Given the description of an element on the screen output the (x, y) to click on. 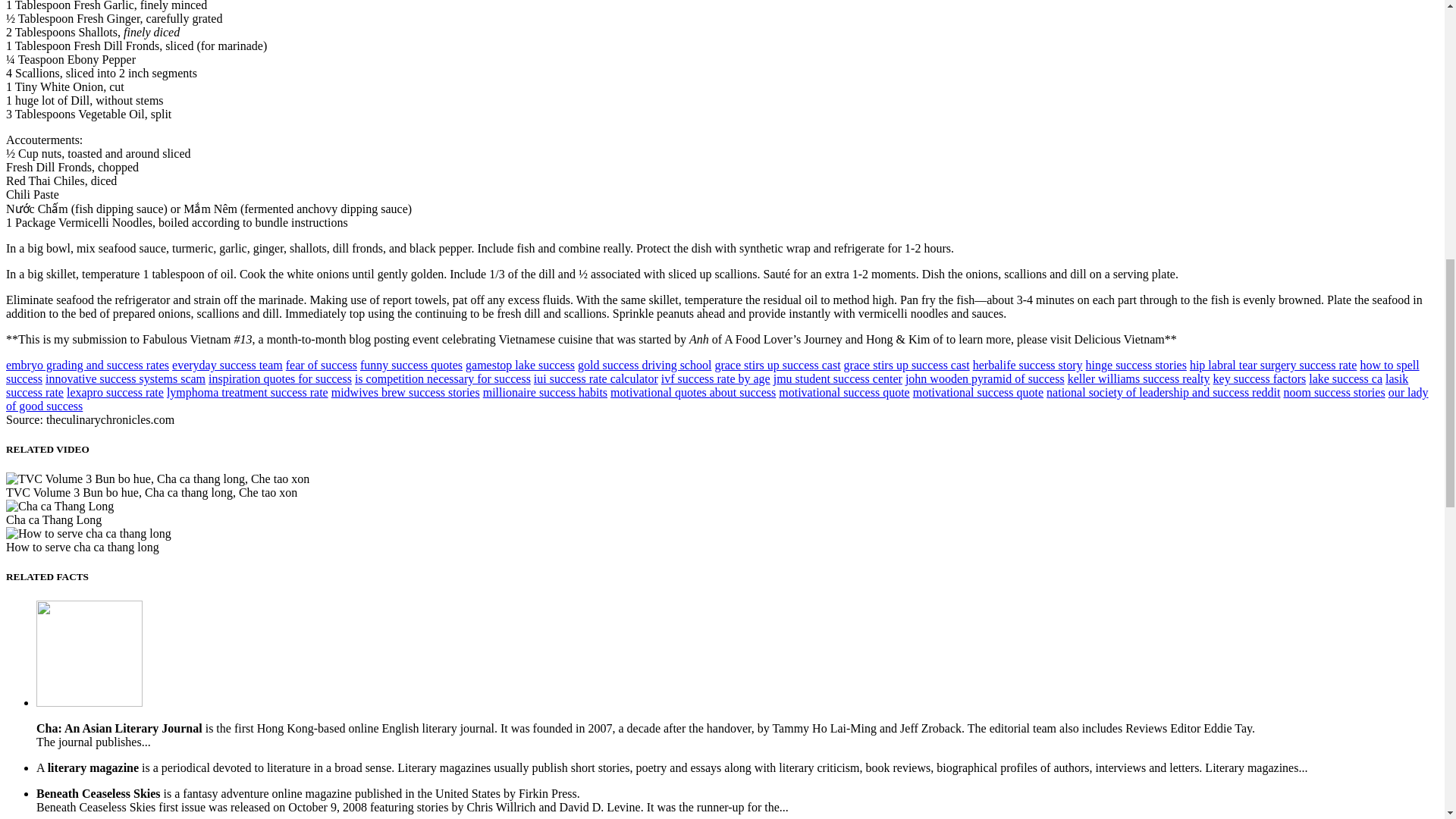
is competition necessary for success (443, 378)
lexapro success rate (114, 391)
innovative success systems scam (125, 378)
ivf success rate by age (715, 378)
hip labral tear surgery success rate (1272, 364)
hinge success stories (1136, 364)
john wooden pyramid of success (984, 378)
embryo grading and success rates (86, 364)
herbalife success story (1027, 364)
funny success quotes (411, 364)
iui success rate calculator (596, 378)
fear of success (320, 364)
everyday success team (226, 364)
gold success driving school (644, 364)
lake success ca (1344, 378)
